Given the description of an element on the screen output the (x, y) to click on. 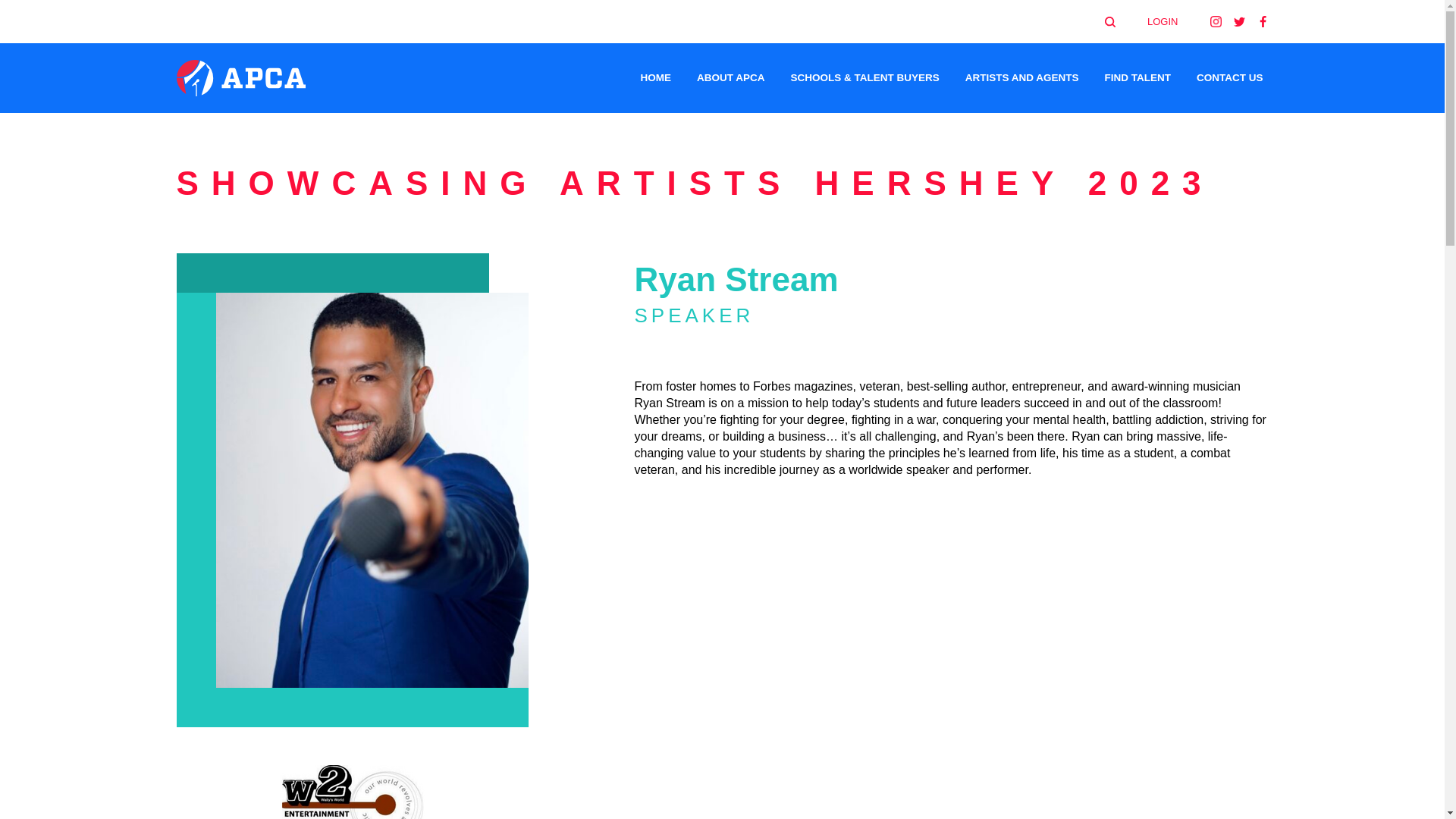
HOME (655, 77)
FIND TALENT (1137, 77)
ARTISTS AND AGENTS (1021, 77)
CONTACT US (1229, 77)
ABOUT APCA (730, 77)
LOGIN (1178, 21)
